Given the description of an element on the screen output the (x, y) to click on. 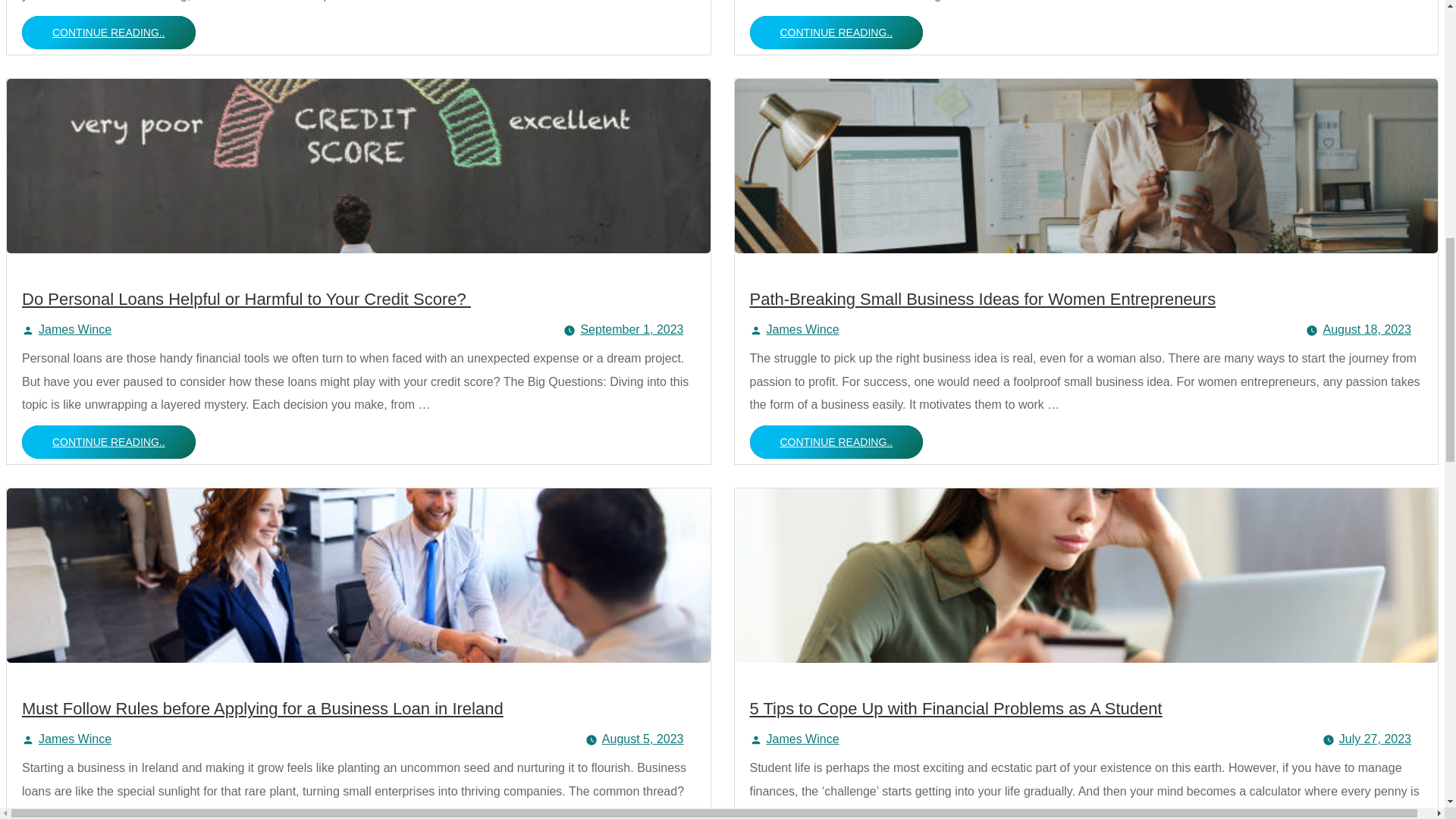
CONTINUE READING.. (108, 32)
